Given the description of an element on the screen output the (x, y) to click on. 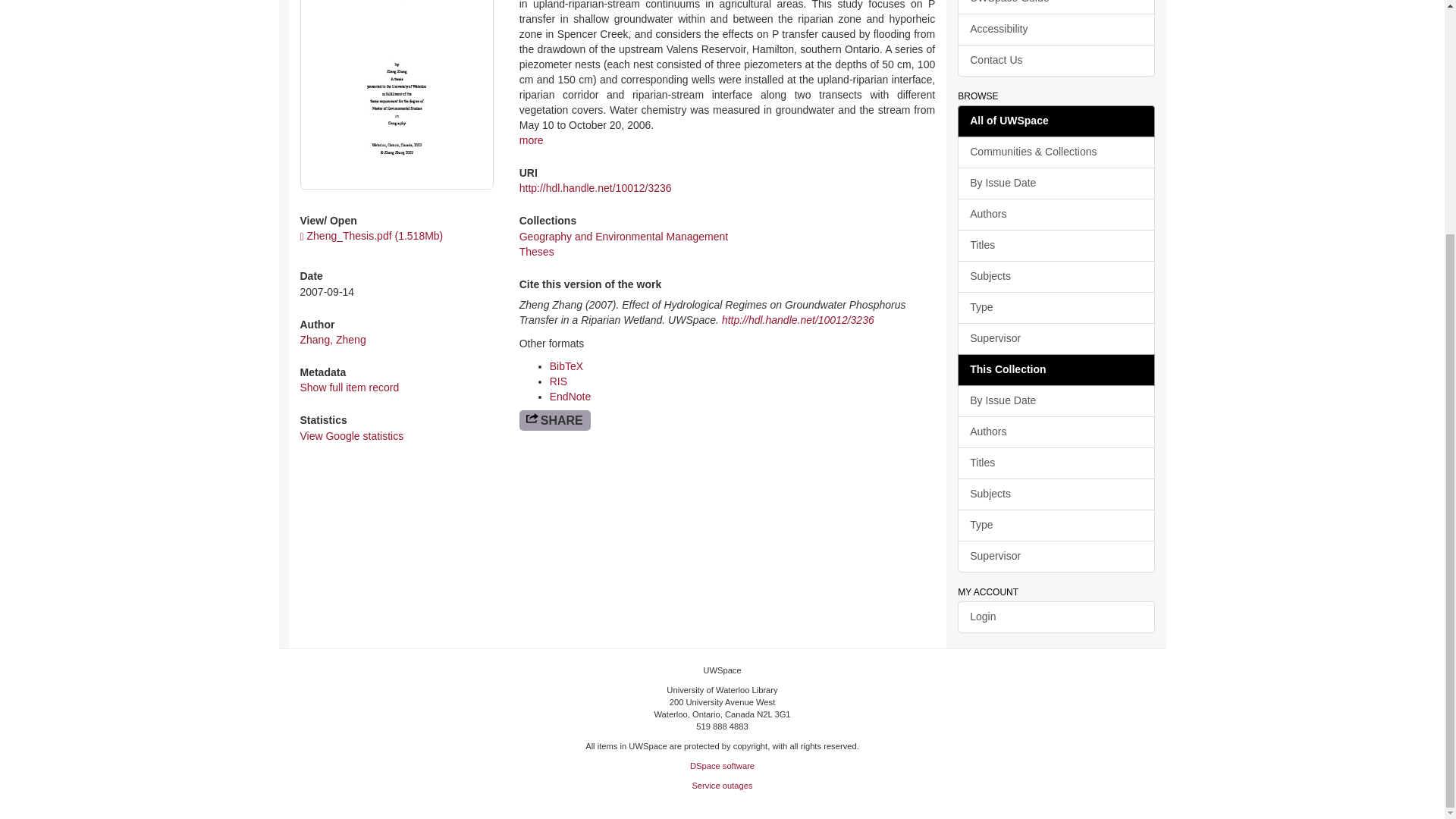
UWSpace Guide (1056, 7)
Show full item record (348, 387)
EndNote (570, 396)
Contact Us (1056, 60)
BibTeX (566, 366)
Zhang, Zheng (332, 339)
Geography and Environmental Management (624, 236)
Accessibility (1056, 29)
Theses (536, 251)
more (531, 140)
RIS (558, 381)
View Google statistics (351, 435)
